Given the description of an element on the screen output the (x, y) to click on. 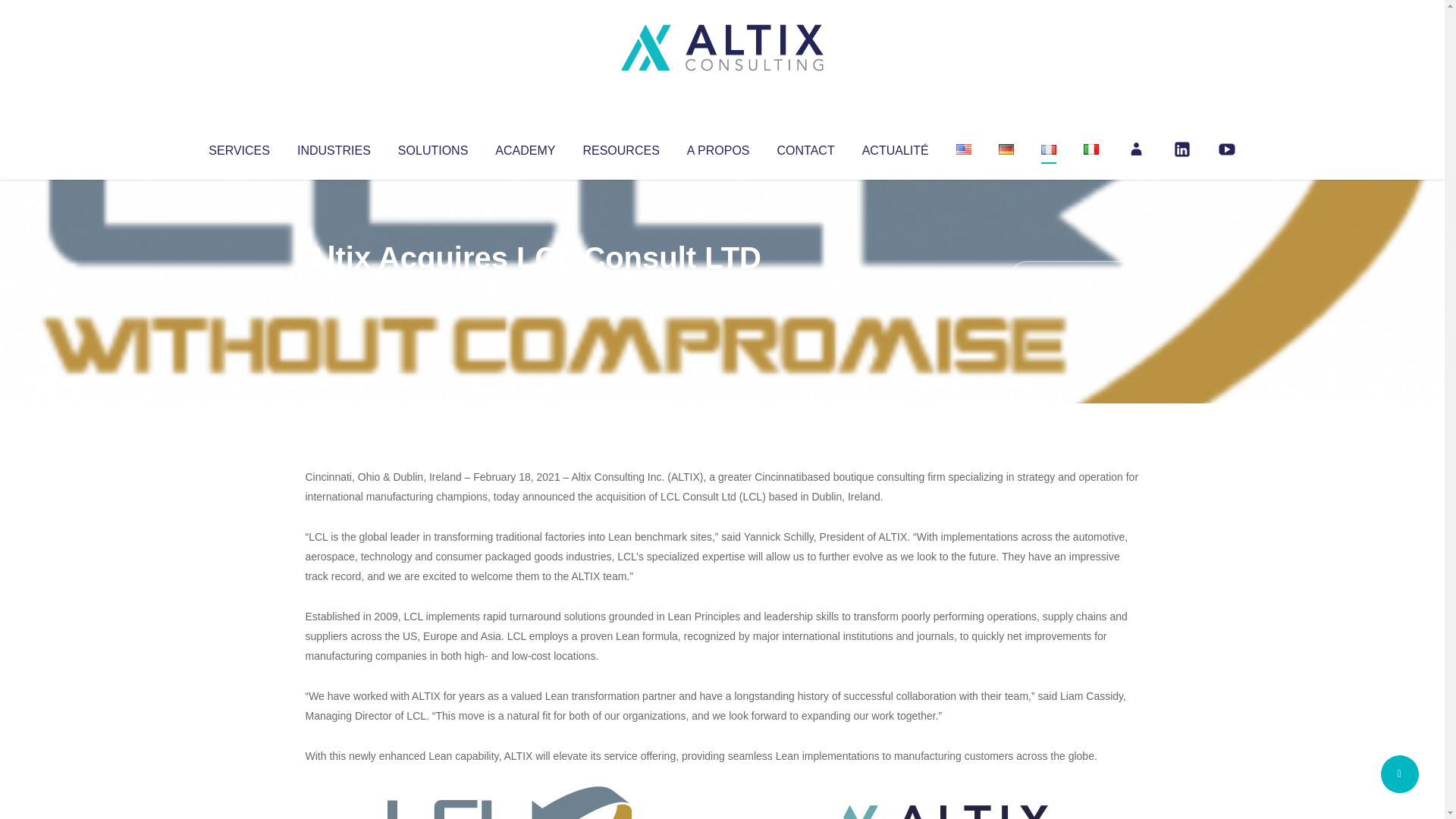
Altix (333, 287)
Articles par Altix (333, 287)
ACADEMY (524, 146)
Uncategorized (530, 287)
SOLUTIONS (432, 146)
No Comments (1073, 278)
RESOURCES (620, 146)
INDUSTRIES (334, 146)
SERVICES (238, 146)
A PROPOS (718, 146)
